Given the description of an element on the screen output the (x, y) to click on. 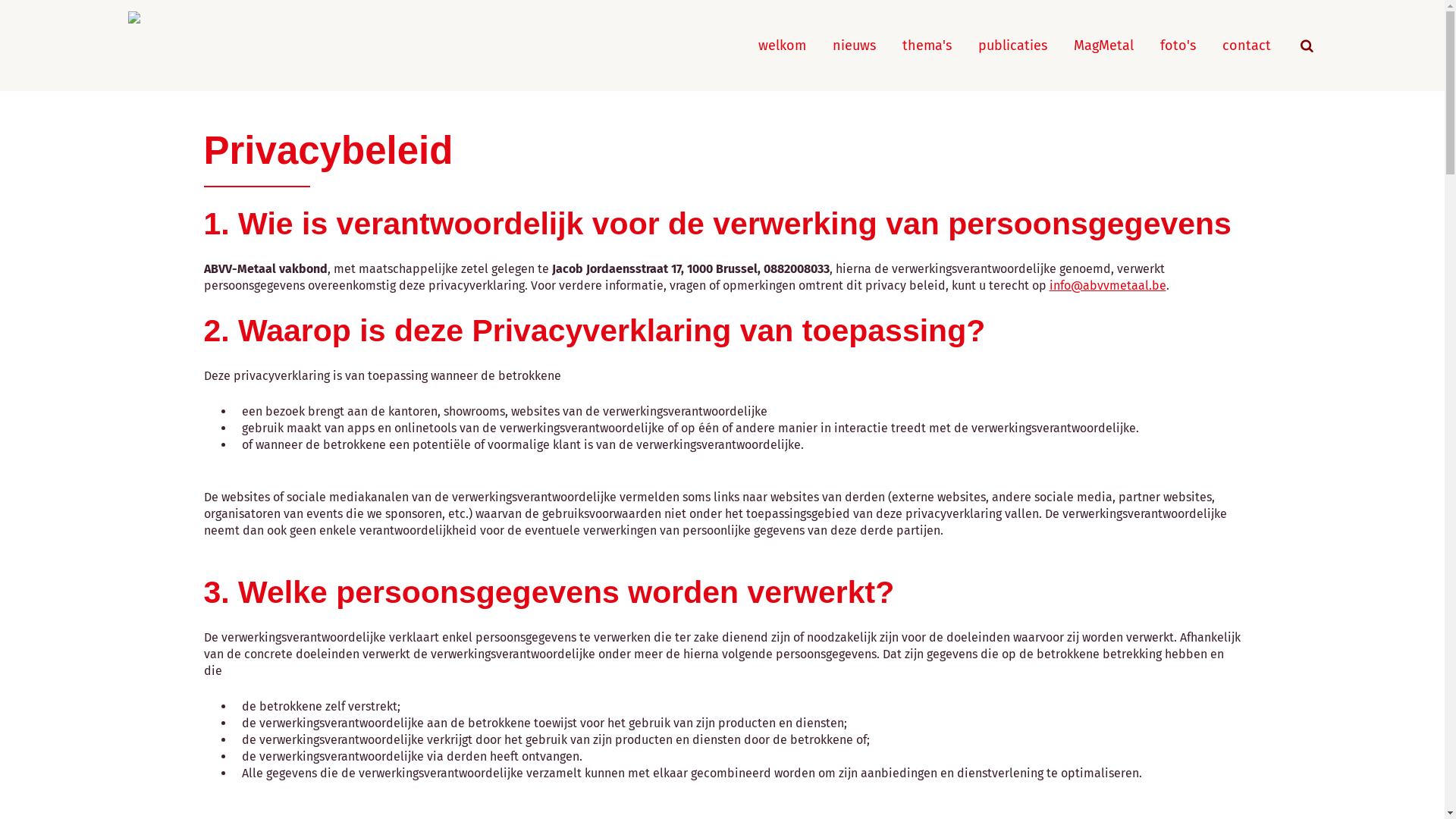
nieuws Element type: text (853, 45)
MagMetal Element type: text (1103, 45)
publicaties Element type: text (1012, 45)
welkom Element type: text (782, 45)
contact Element type: text (1246, 45)
info@abvvmetaal.be Element type: text (1107, 285)
foto's Element type: text (1177, 45)
thema's Element type: text (926, 45)
